Given the description of an element on the screen output the (x, y) to click on. 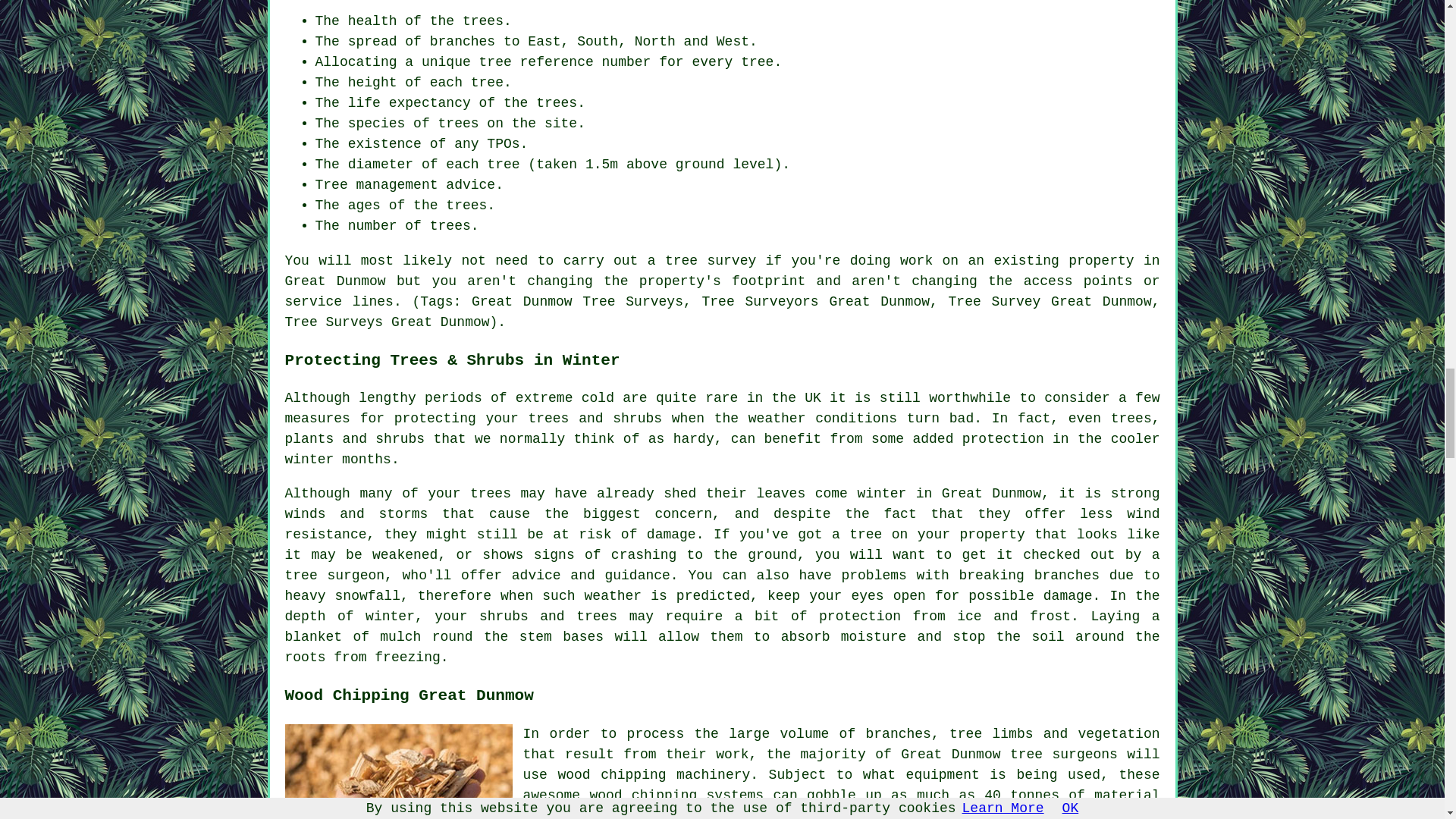
Wood Chipping Great Dunmow (398, 771)
